Given the description of an element on the screen output the (x, y) to click on. 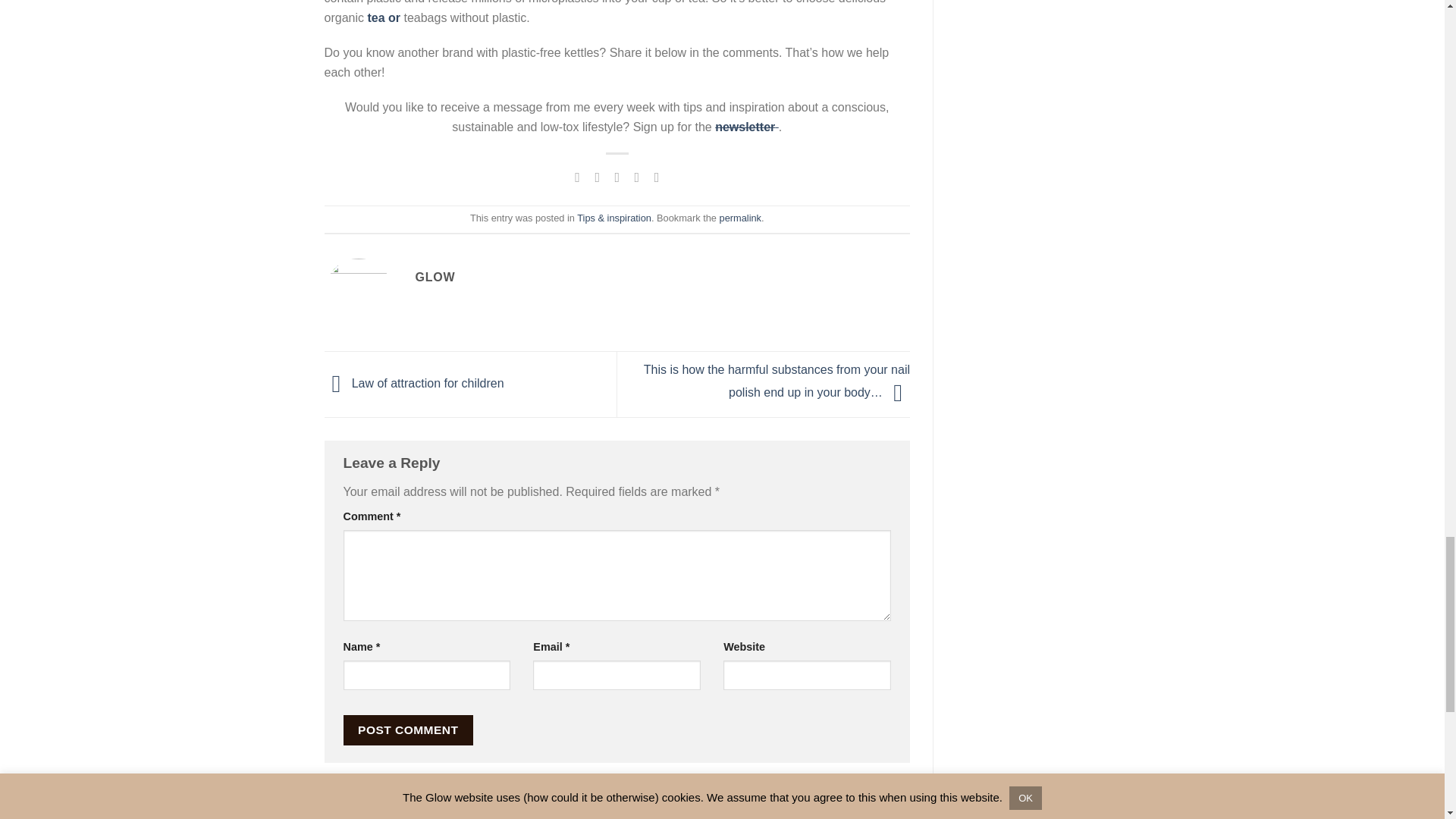
Share on Twitter (597, 177)
Email to a Friend (617, 177)
Share on Facebook (577, 177)
Pin on Pinterest (636, 177)
Post Comment (407, 729)
